Given the description of an element on the screen output the (x, y) to click on. 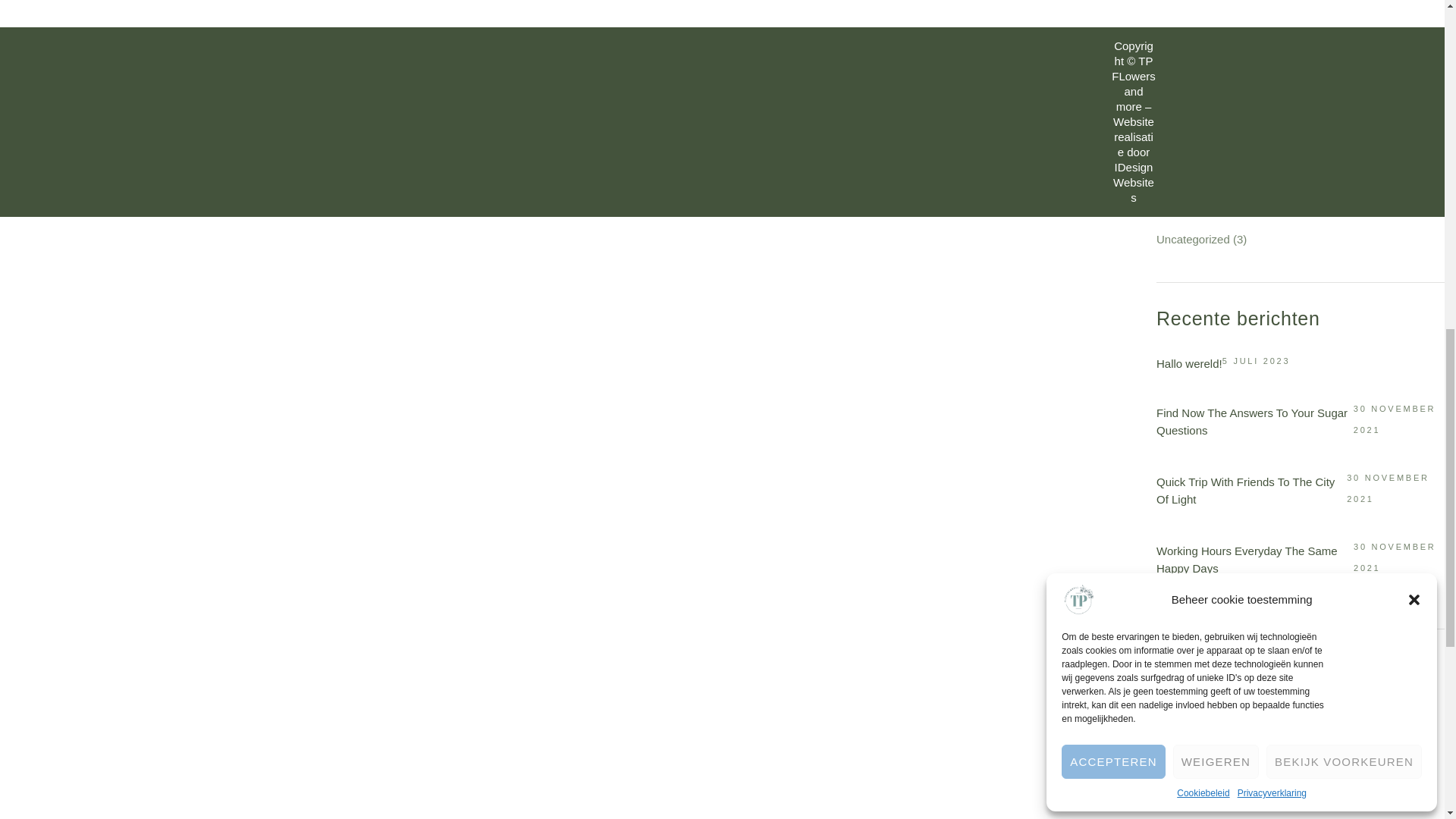
READ MORE (555, 24)
